Given the description of an element on the screen output the (x, y) to click on. 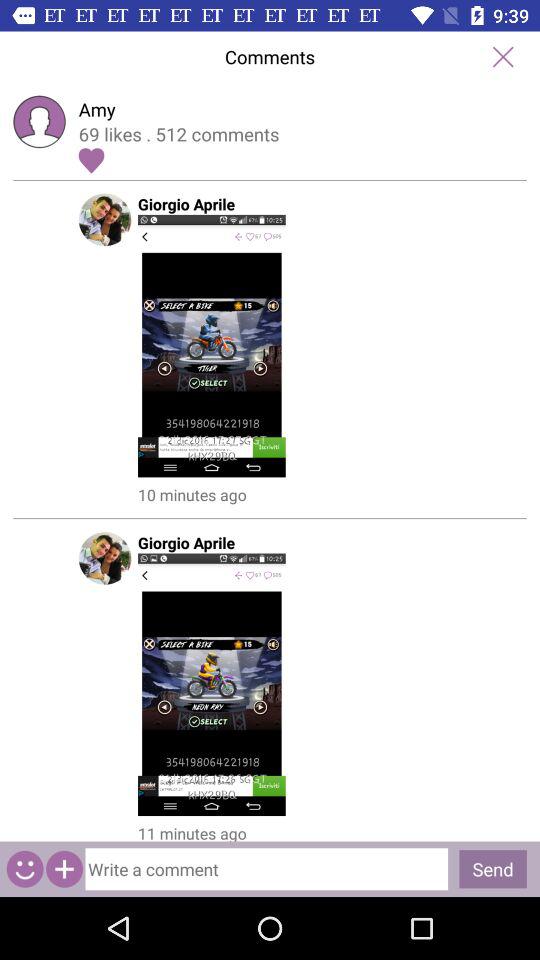
click on contact (64, 868)
